Given the description of an element on the screen output the (x, y) to click on. 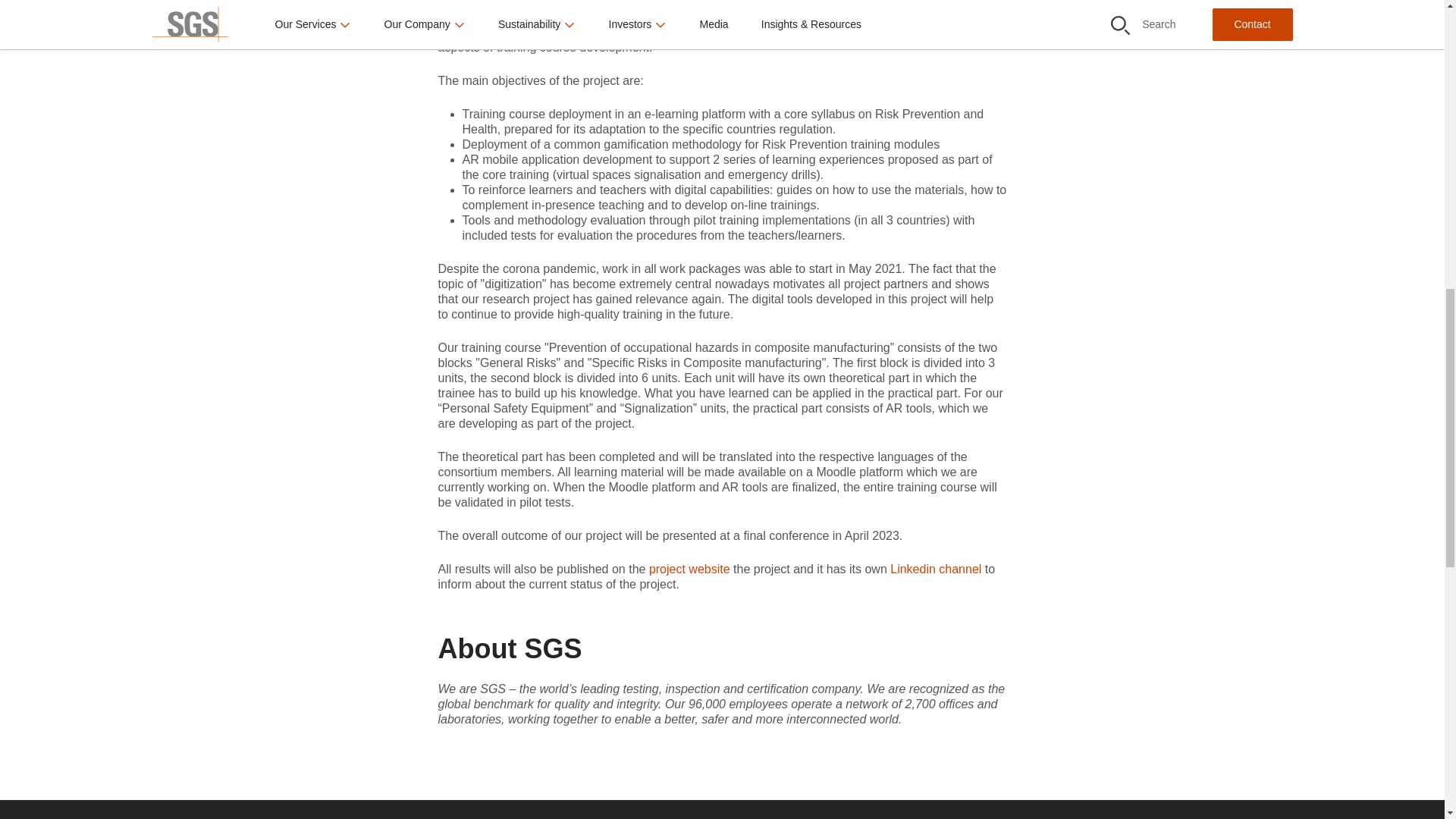
Linkedin channel (937, 568)
project website (689, 568)
